Given the description of an element on the screen output the (x, y) to click on. 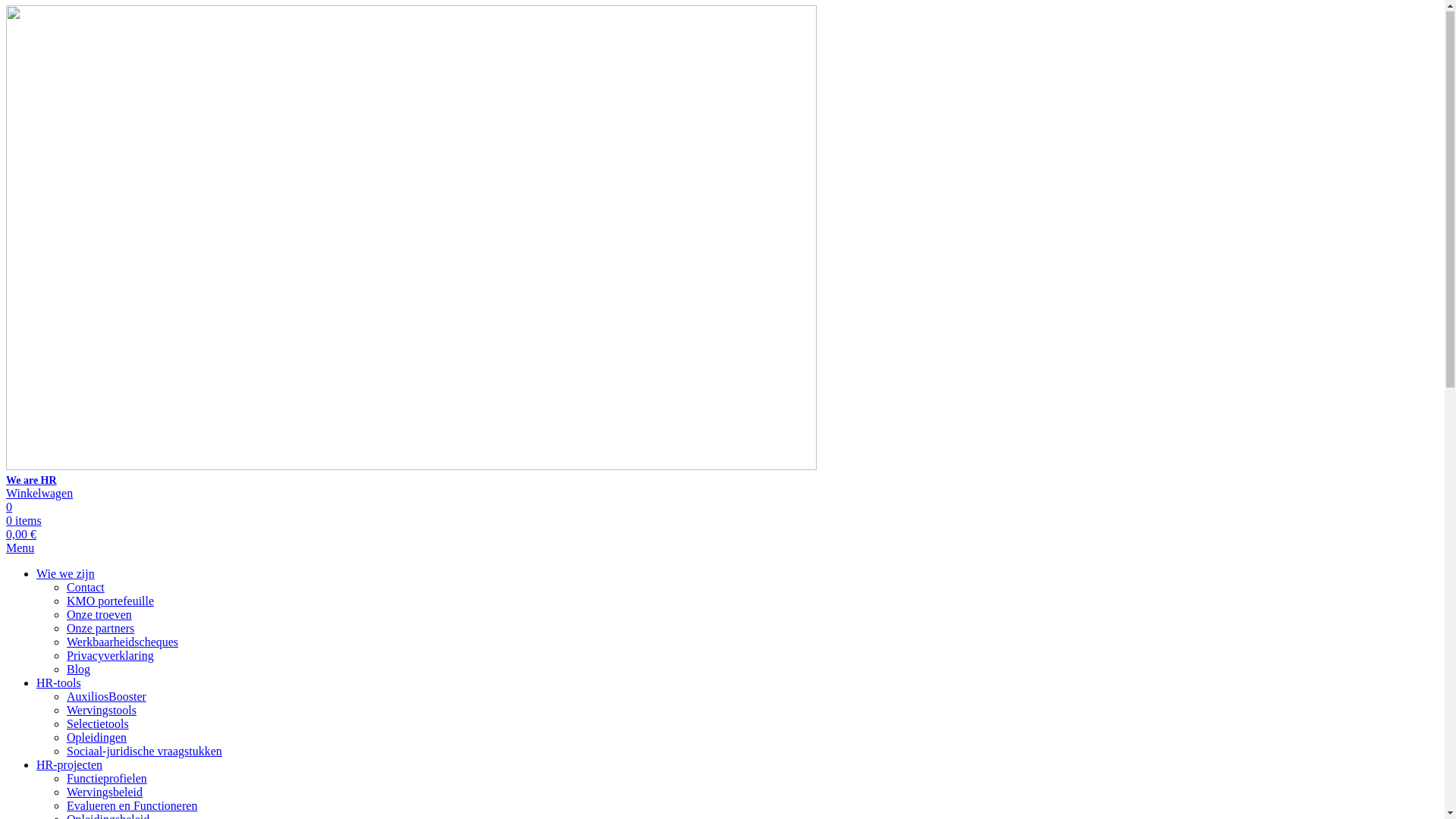
Contact Element type: text (85, 587)
Wervingsbeleid Element type: text (104, 792)
Wervingstools Element type: text (101, 710)
We are HR Element type: text (722, 246)
Onze partners Element type: text (100, 628)
KMO portefeuille Element type: text (109, 601)
Functieprofielen Element type: text (106, 778)
AuxiliosBooster Element type: text (106, 696)
Opleidingen Element type: text (96, 737)
Onze troeven Element type: text (98, 614)
Privacyverklaring Element type: text (109, 655)
Selectietools Element type: text (97, 724)
Werkbaarheidscheques Element type: text (122, 642)
Evalueren en Functioneren Element type: text (131, 806)
Wie we zijn Element type: text (65, 573)
Menu Element type: text (20, 548)
HR-tools Element type: text (58, 683)
Sociaal-juridische vraagstukken Element type: text (144, 751)
HR-projecten Element type: text (69, 765)
Blog Element type: text (78, 669)
